Given the description of an element on the screen output the (x, y) to click on. 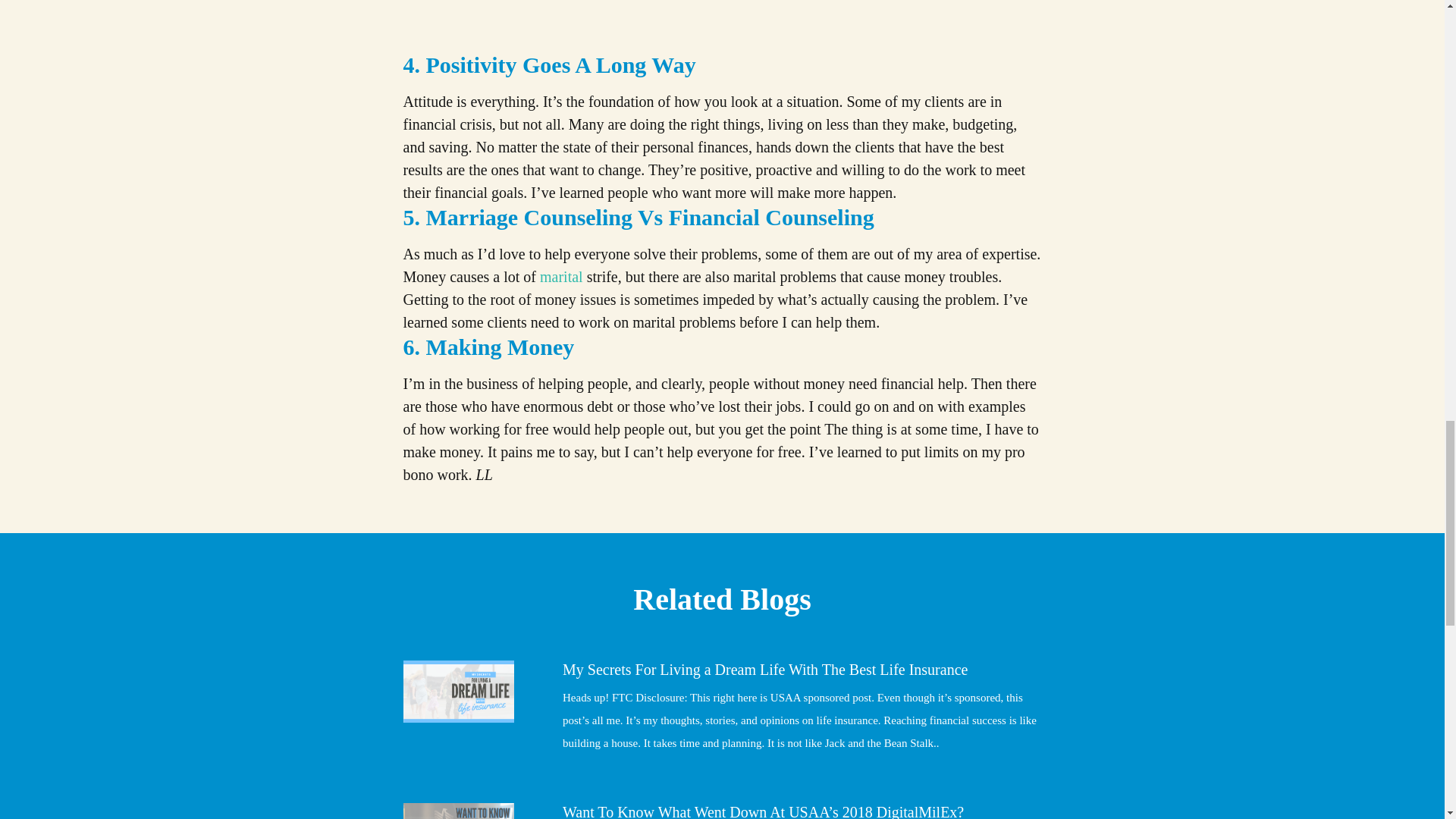
marital (561, 276)
